Given the description of an element on the screen output the (x, y) to click on. 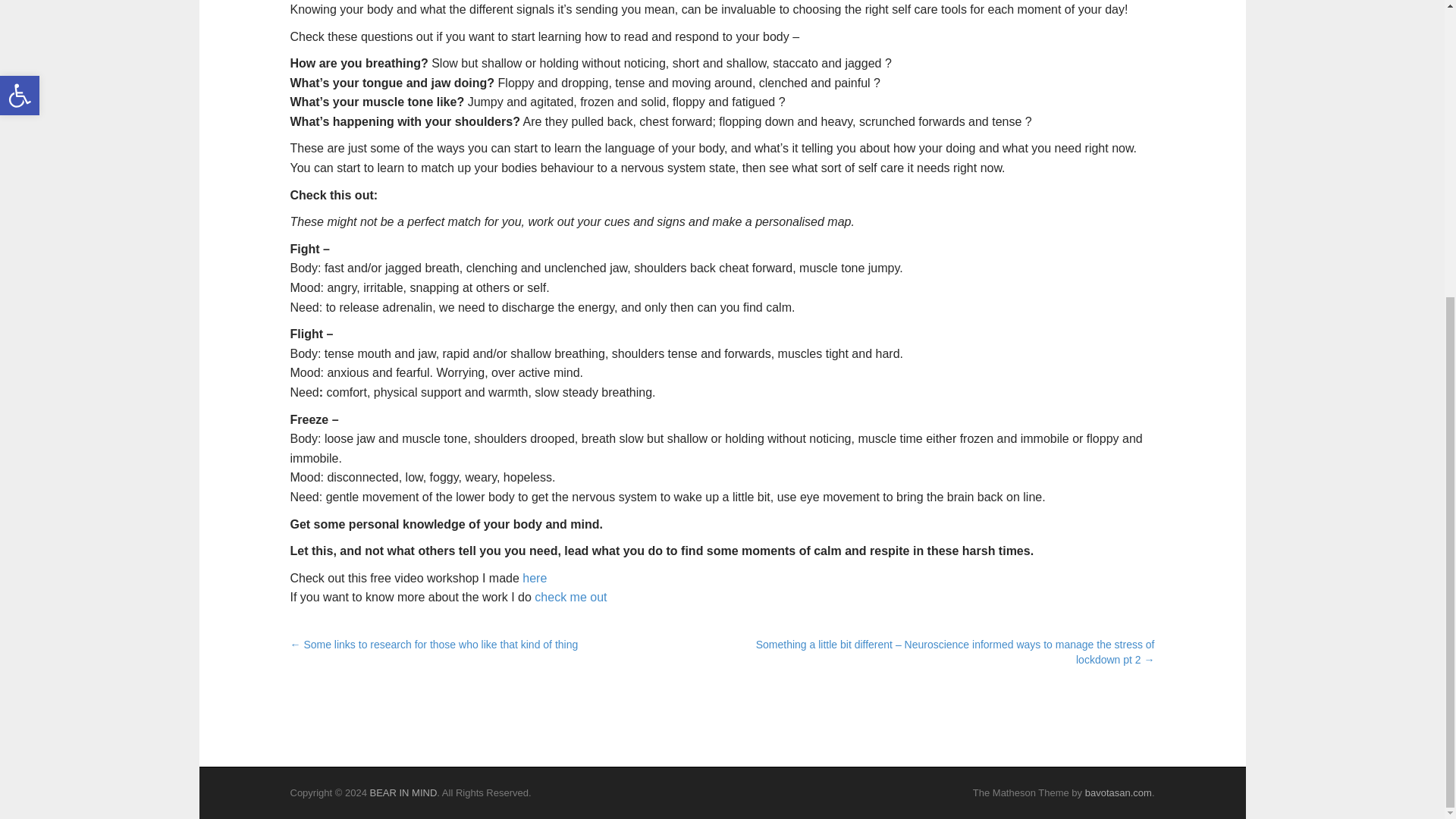
bavotasan.com (1117, 792)
here (533, 577)
check me out (570, 596)
BEAR IN MIND (402, 792)
